Given the description of an element on the screen output the (x, y) to click on. 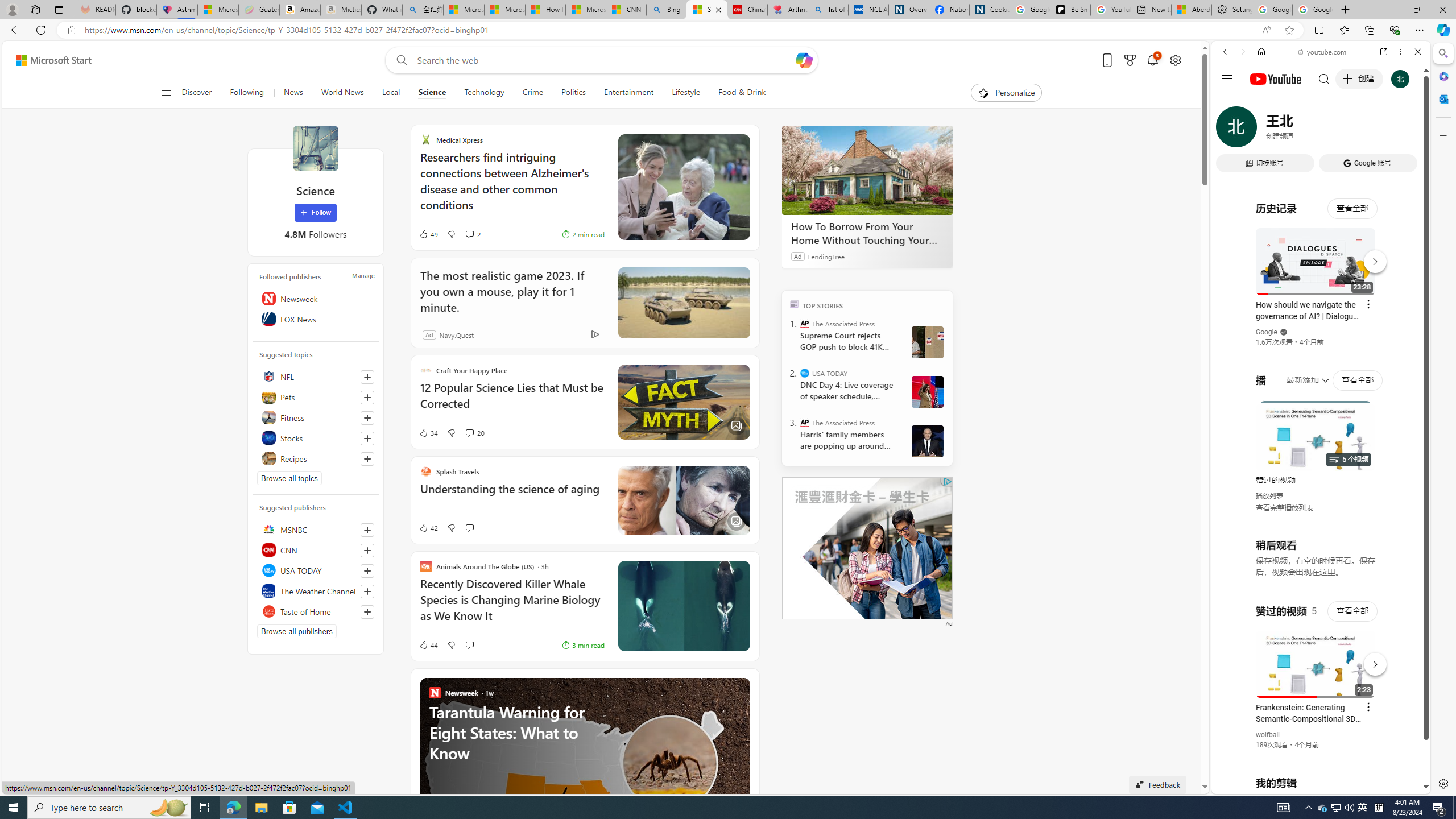
Actions for this site (1371, 661)
See more (741, 686)
Aberdeen, Hong Kong SAR hourly forecast | Microsoft Weather (1191, 9)
More options (1401, 51)
Add this page to favorites (Ctrl+D) (1289, 29)
Discover (201, 92)
Science - MSN (706, 9)
